Given the description of an element on the screen output the (x, y) to click on. 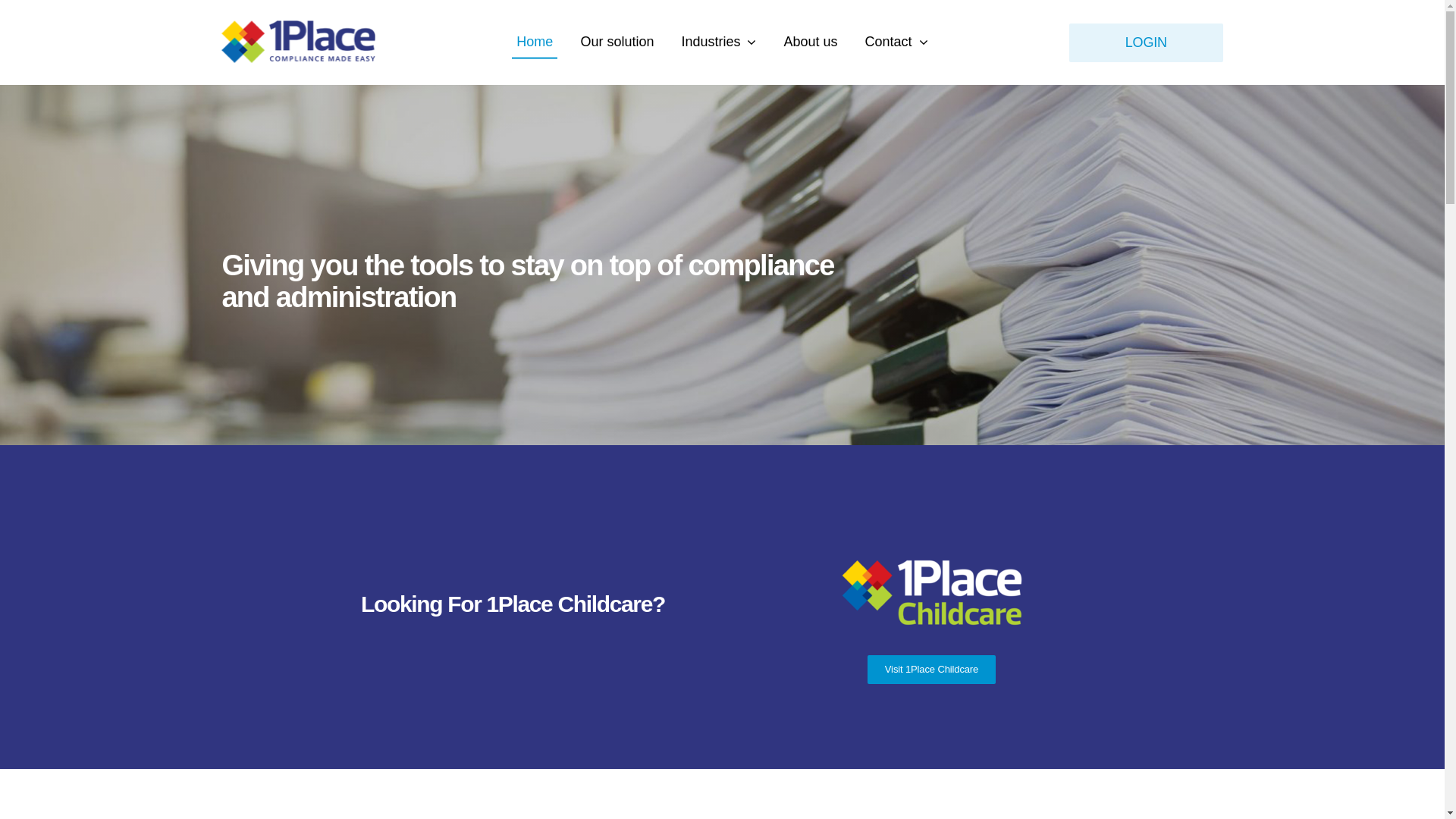
Home Element type: text (534, 42)
Visit 1Place Childcare Element type: text (931, 669)
LOGIN Element type: text (1145, 41)
About us Element type: text (809, 42)
Industries Element type: text (718, 42)
Our solution Element type: text (616, 42)
Contact Element type: text (896, 42)
